Given the description of an element on the screen output the (x, y) to click on. 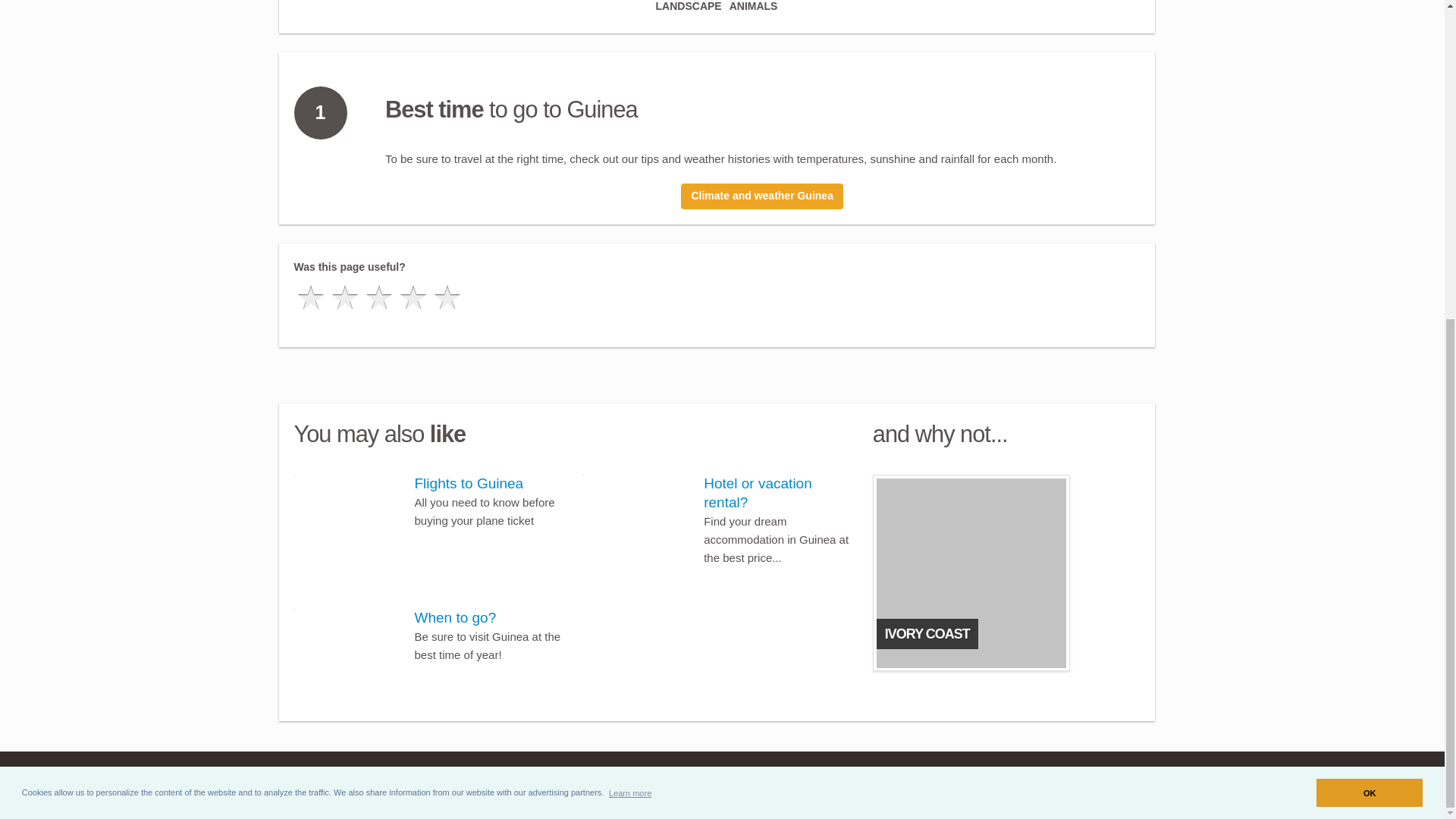
Learn more (630, 276)
Hotel or vacation rental? (757, 492)
Language (780, 783)
OK (1369, 276)
IVORY COAST (1006, 572)
Climate and weather Guinea (762, 196)
Flights to Guinea (469, 483)
When to go? (455, 617)
Contact us (722, 782)
